Given the description of an element on the screen output the (x, y) to click on. 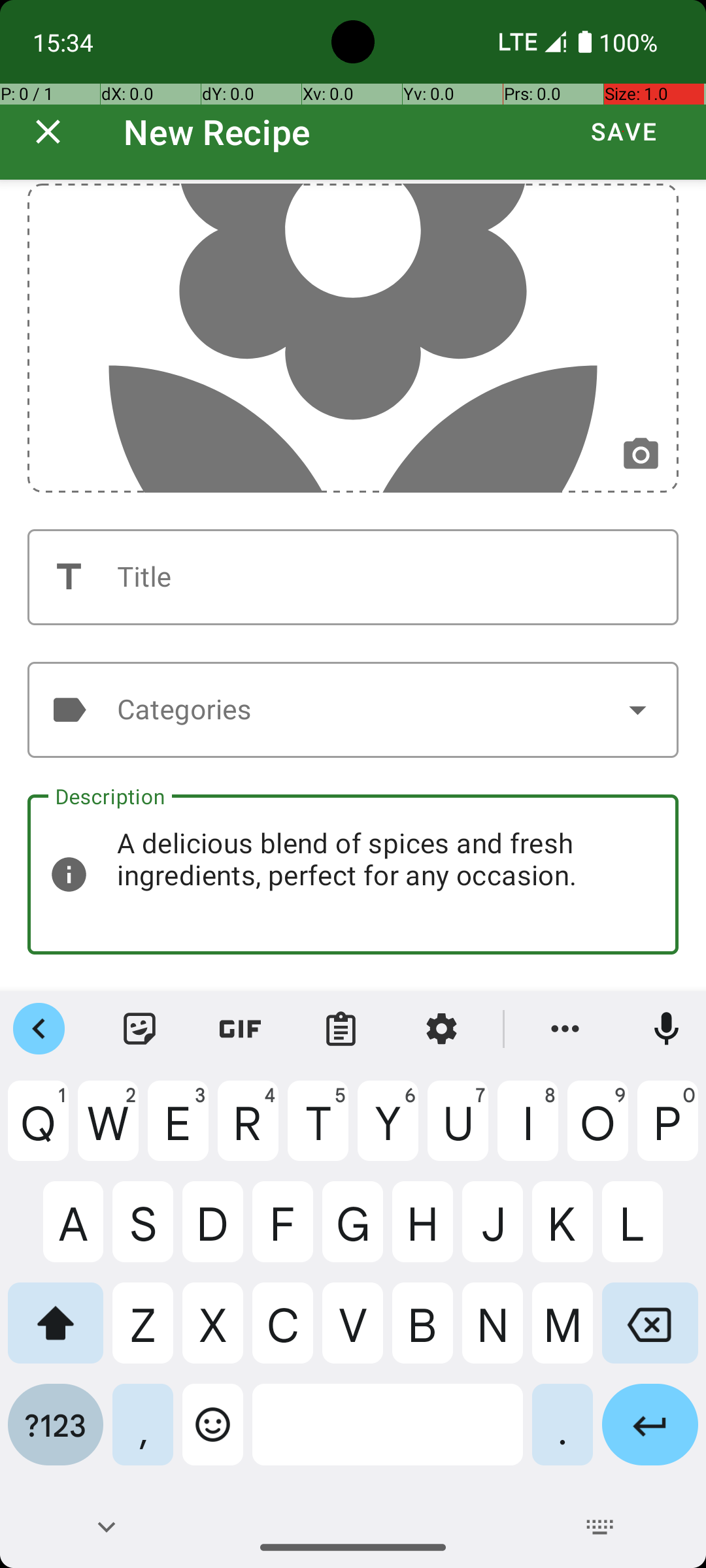
A delicious blend of spices and fresh ingredients, perfect for any occasion.
 Element type: android.widget.EditText (352, 874)
